Given the description of an element on the screen output the (x, y) to click on. 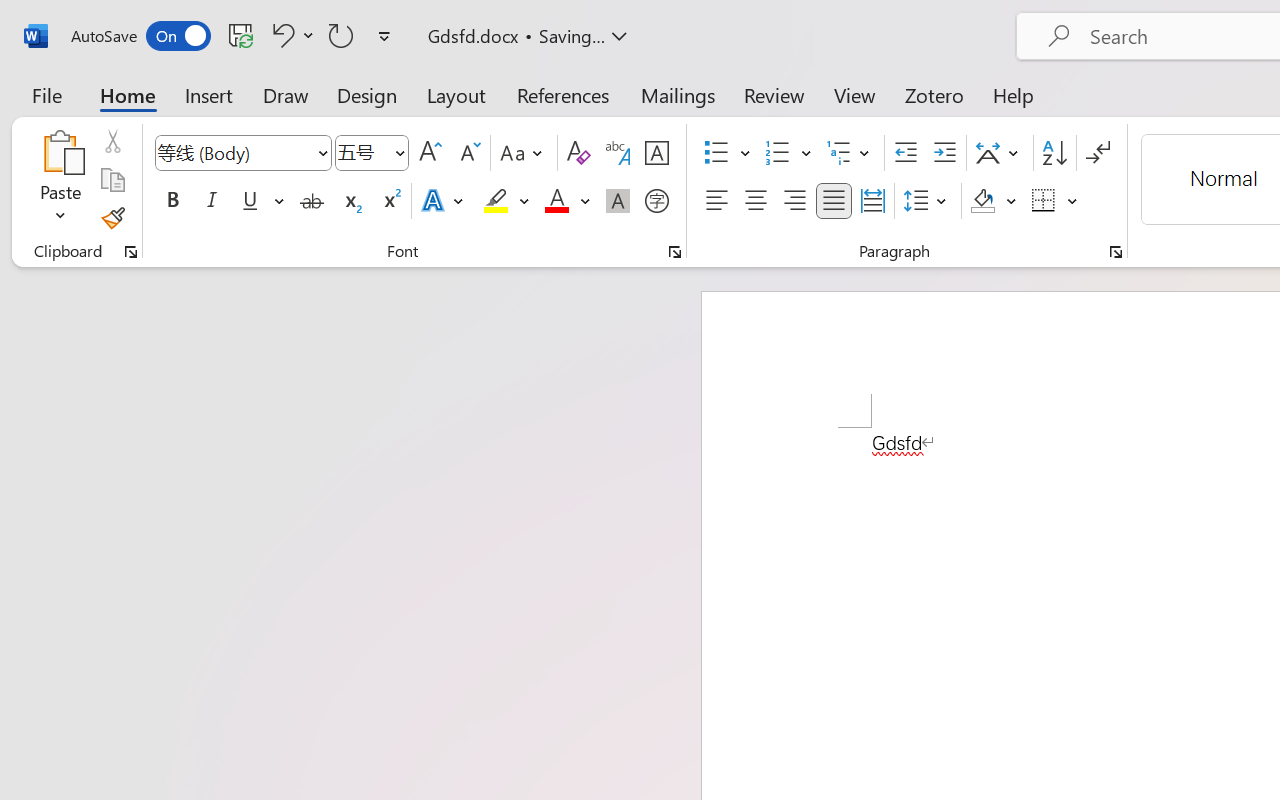
Distributed (872, 201)
Phonetic Guide... (618, 153)
Grow Font (430, 153)
Shading RGB(0, 0, 0) (982, 201)
Center (756, 201)
Character Border (656, 153)
Decrease Indent (906, 153)
